Given the description of an element on the screen output the (x, y) to click on. 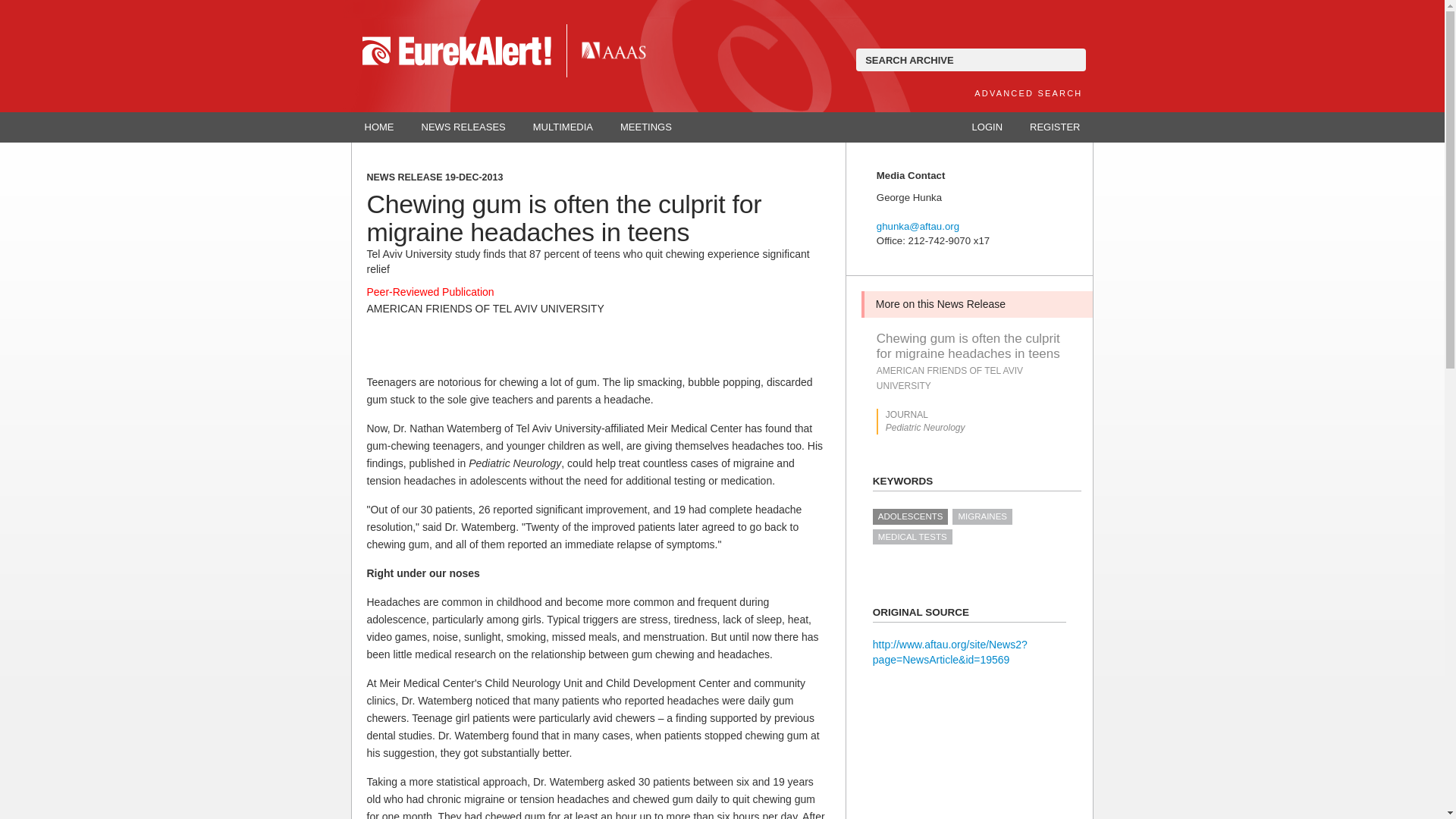
ADVANCED SEARCH (1027, 92)
ADOLESCENTS (910, 516)
MULTIMEDIA (563, 127)
MEDICAL TESTS (912, 536)
HOME (378, 127)
MIGRAINES (981, 516)
MEETINGS (646, 127)
LOGIN (987, 127)
REGISTER (1054, 127)
NEWS RELEASES (463, 127)
Peer-Reviewed Publication (430, 291)
